Given the description of an element on the screen output the (x, y) to click on. 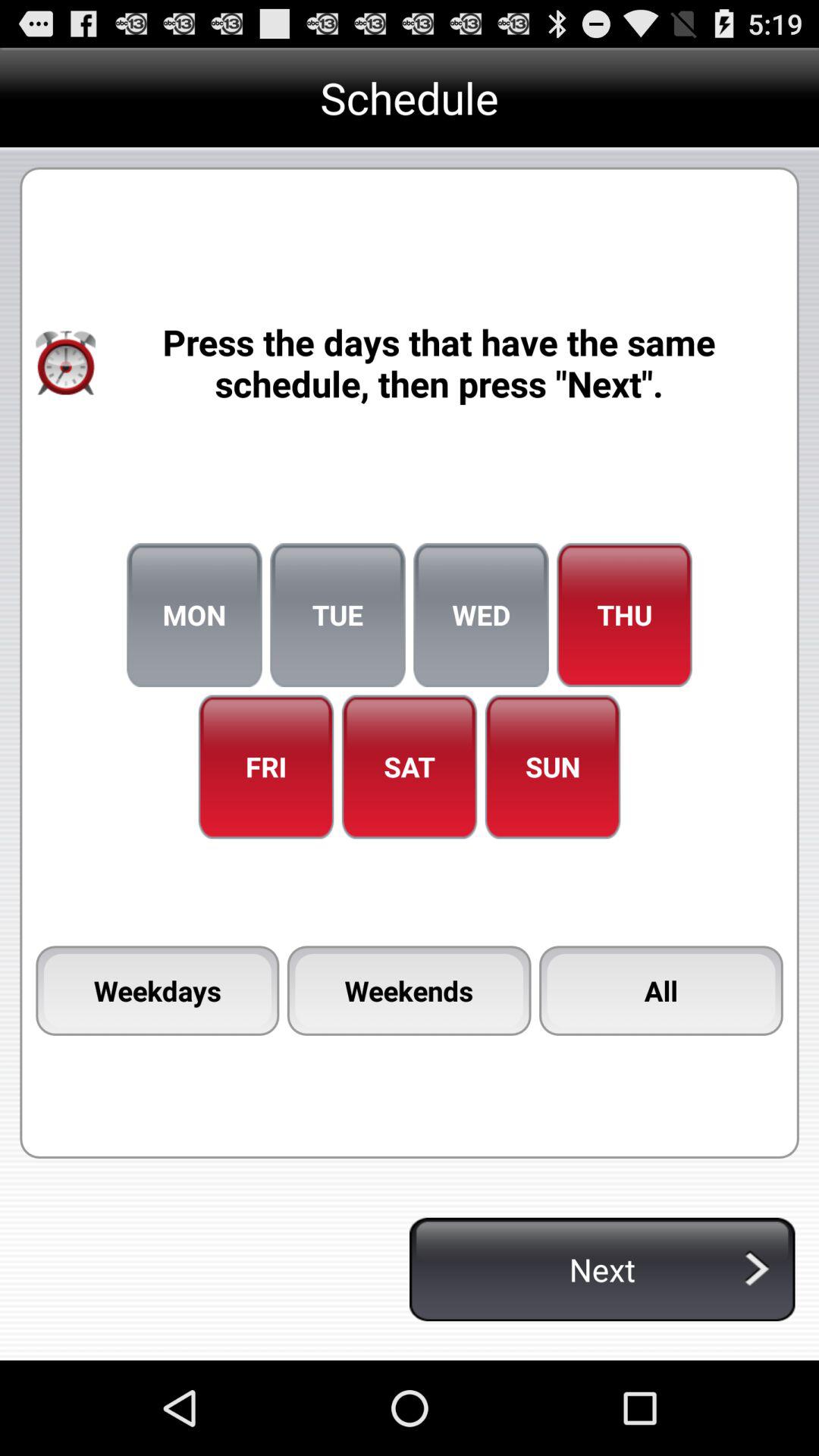
turn off icon next to the fri icon (409, 766)
